Given the description of an element on the screen output the (x, y) to click on. 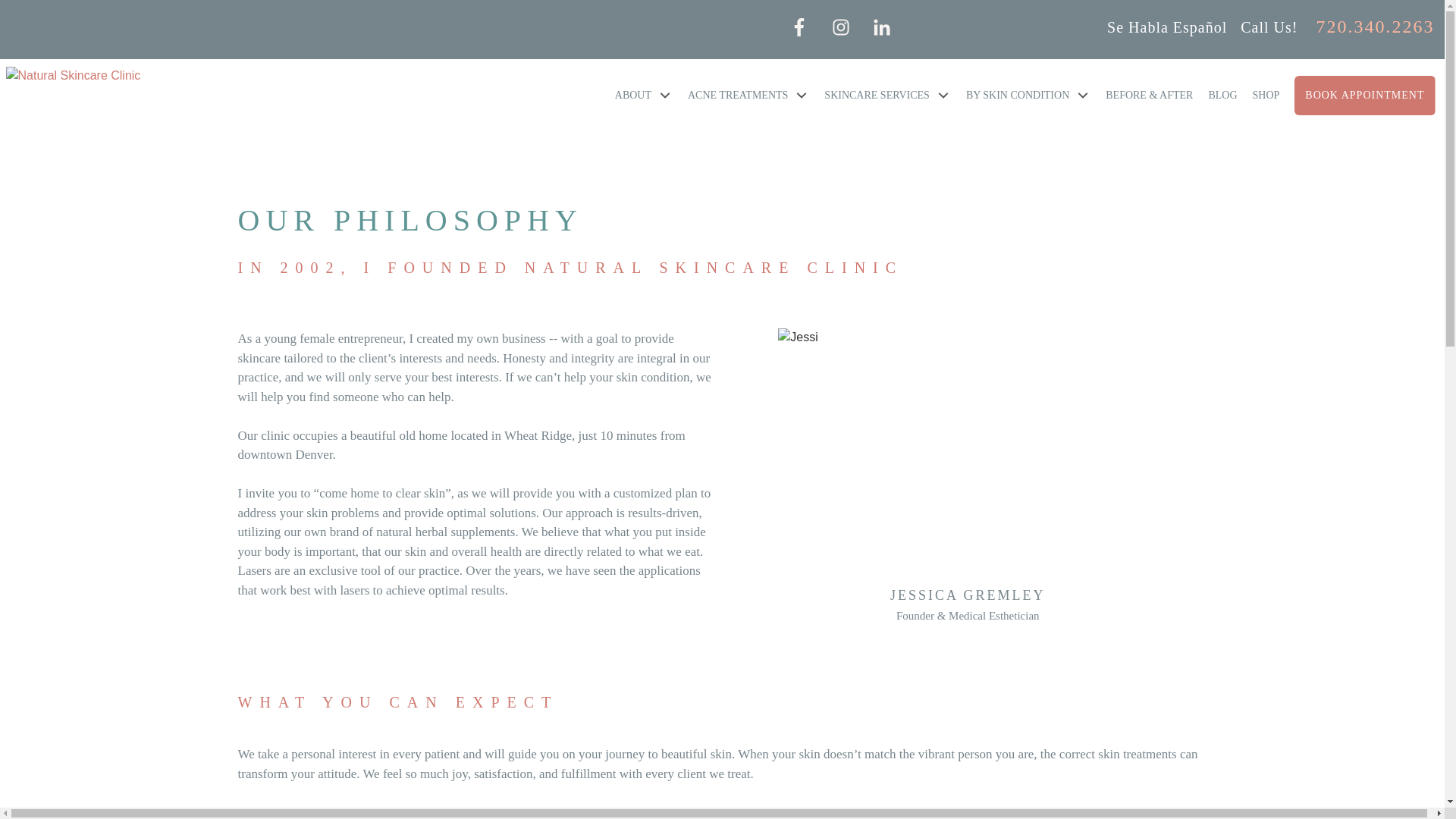
720.340.2263 (1375, 26)
ACNE TREATMENTS (748, 95)
ABOUT (643, 95)
SKINCARE SERVICES (887, 95)
